Given the description of an element on the screen output the (x, y) to click on. 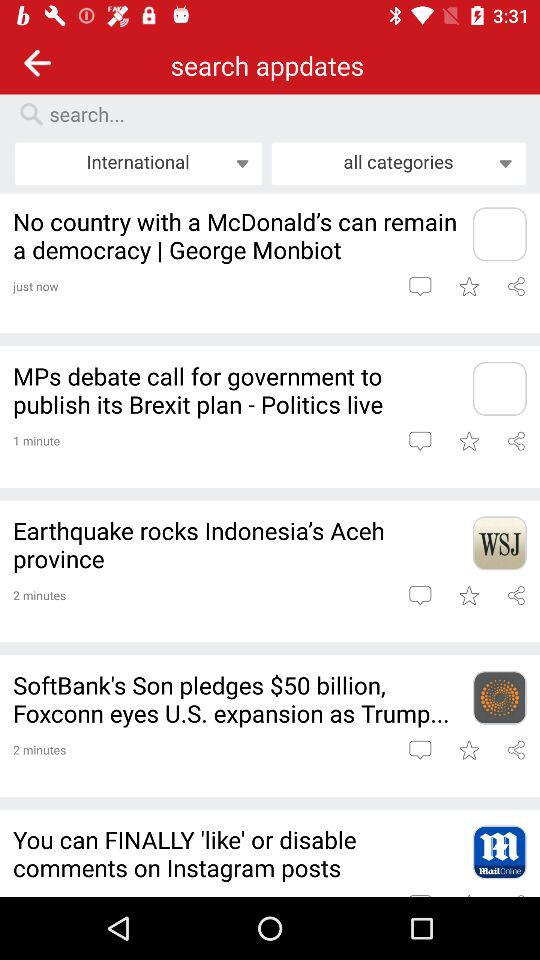
expand the article (499, 543)
